Given the description of an element on the screen output the (x, y) to click on. 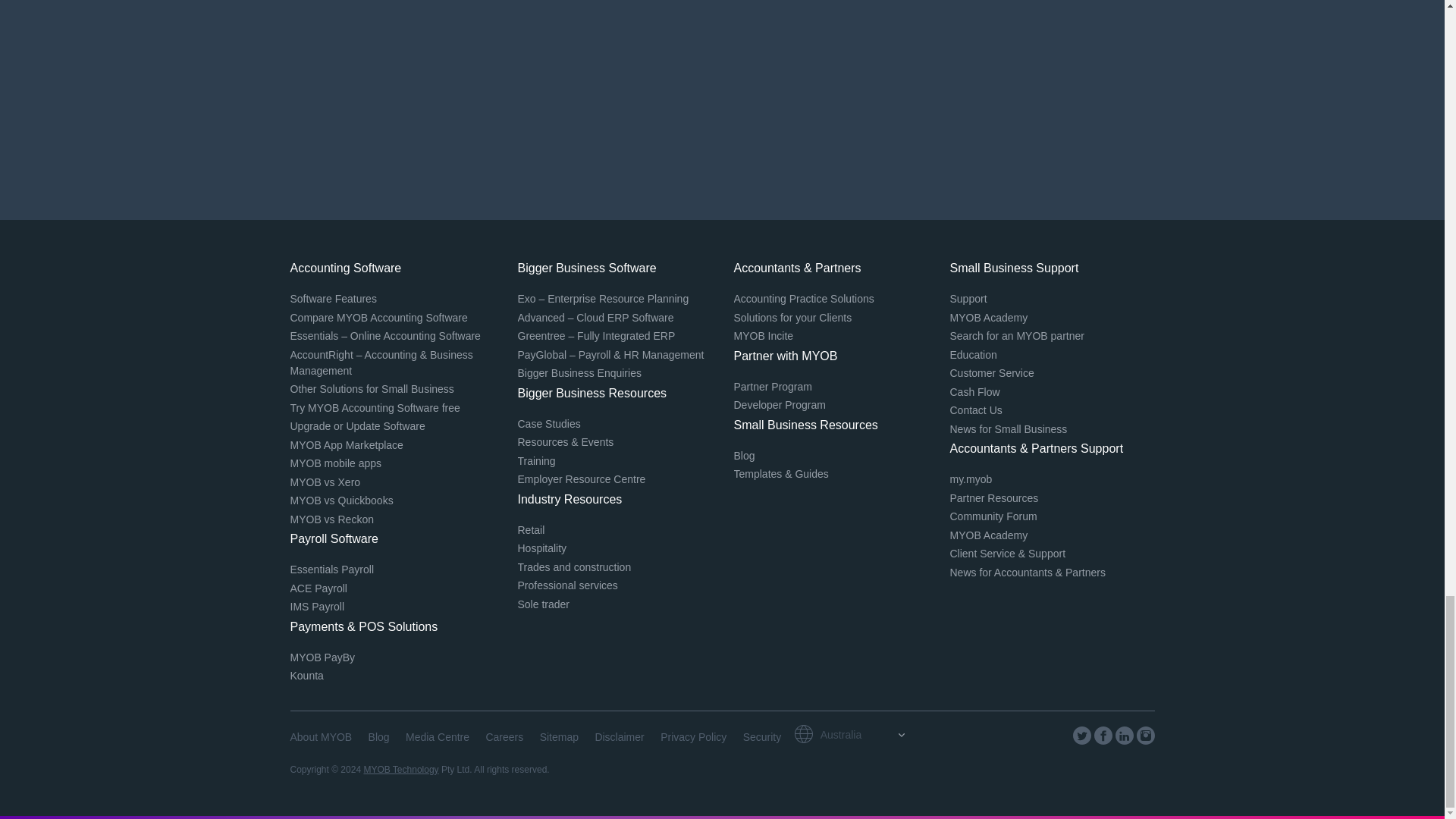
Upgrade or Update Software (357, 426)
Try MYOB Accounting Software free (374, 408)
Form 0 (721, 93)
Software Features (332, 298)
Accounting Software (345, 267)
MYOB App Marketplace (346, 444)
Compare MYOB Accounting Software (378, 317)
Other Solutions for Small Business (370, 388)
